Given the description of an element on the screen output the (x, y) to click on. 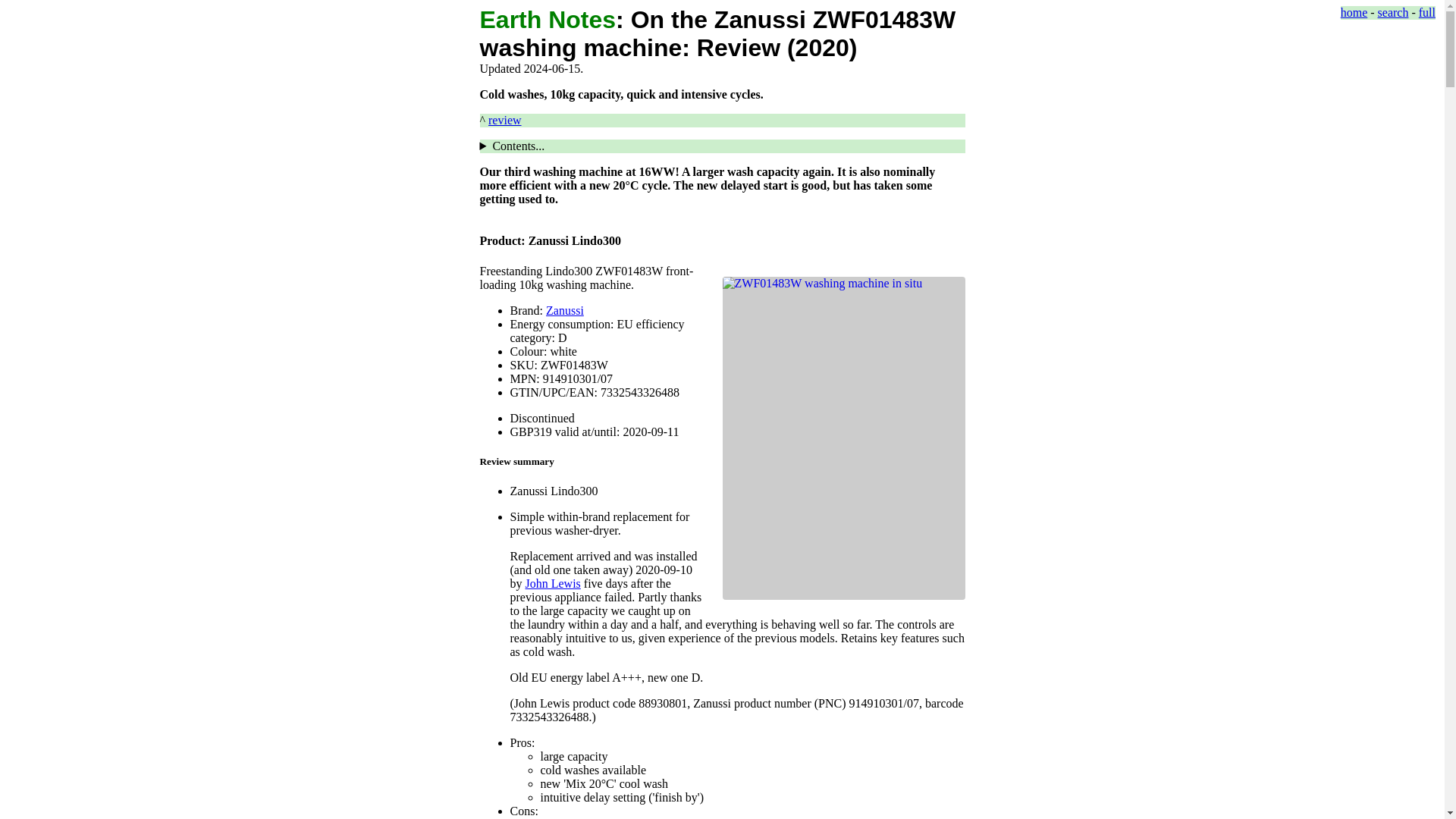
home (1354, 11)
John Lewis (551, 583)
search (1393, 11)
Zanussi (564, 309)
review (504, 119)
